Given the description of an element on the screen output the (x, y) to click on. 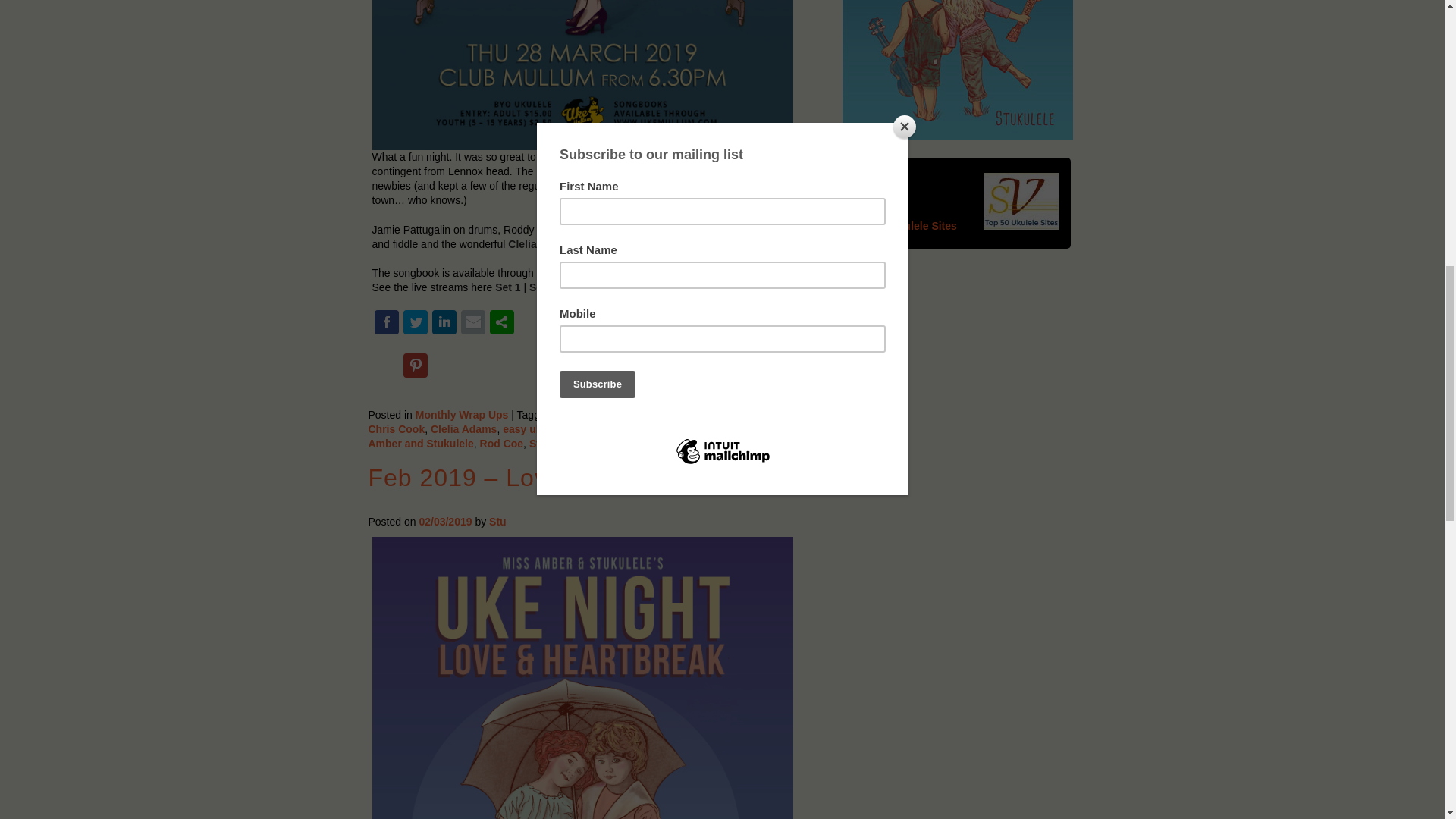
View all posts by Stu (497, 521)
6:16 am (445, 521)
